Given the description of an element on the screen output the (x, y) to click on. 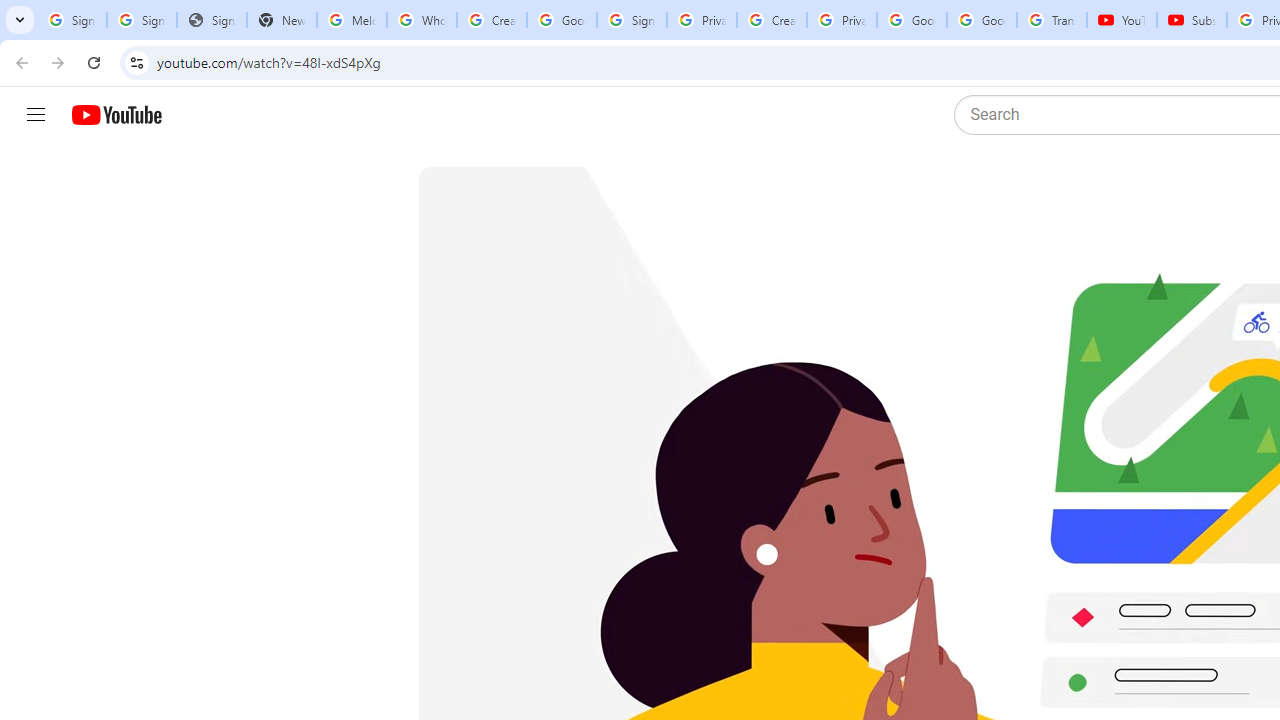
Create your Google Account (492, 20)
Who is my administrator? - Google Account Help (421, 20)
New Tab (282, 20)
